Given the description of an element on the screen output the (x, y) to click on. 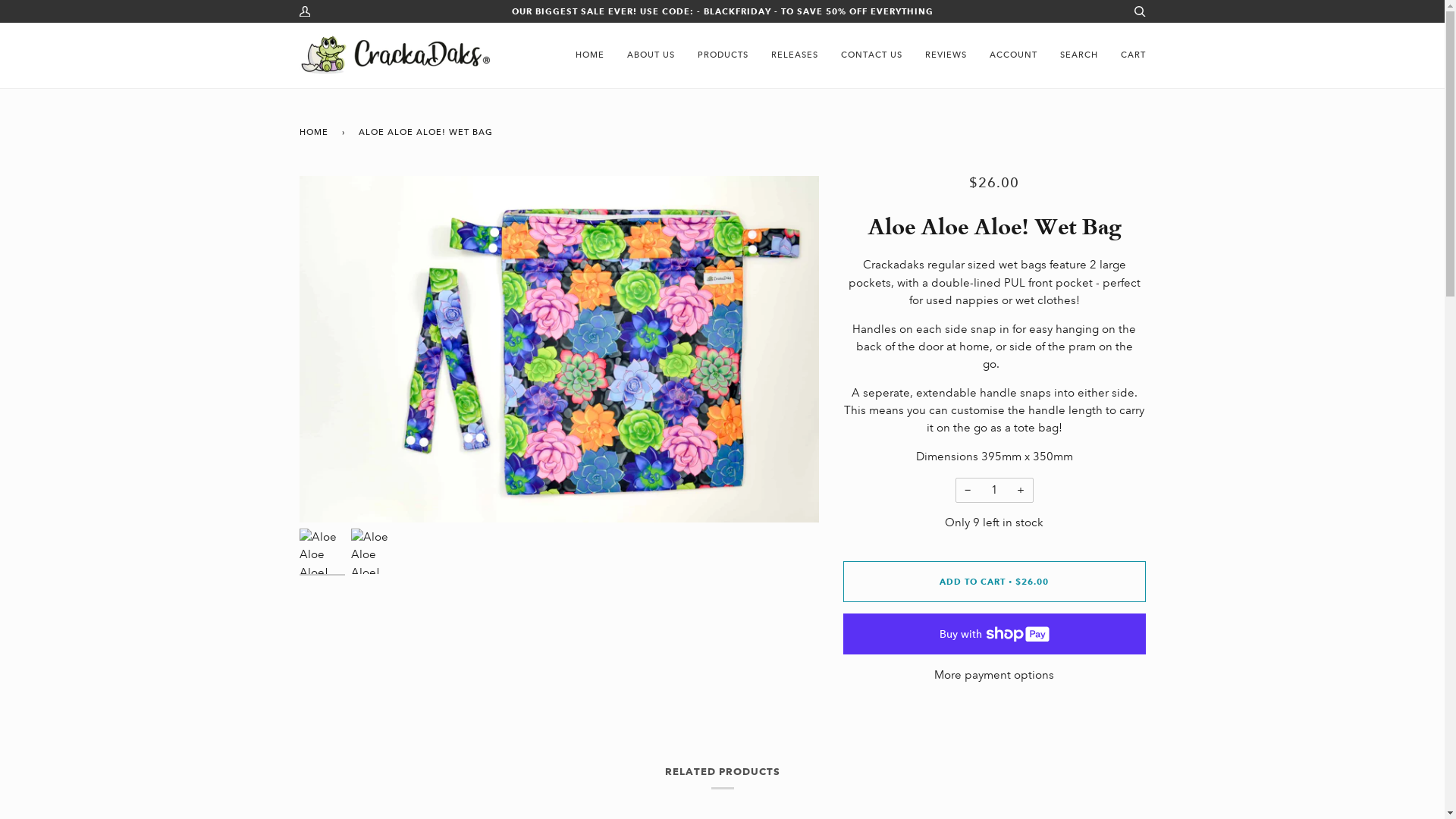
REVIEWS Element type: text (945, 54)
HOME Element type: text (315, 132)
PRODUCTS Element type: text (722, 54)
SEARCH Element type: text (1078, 54)
ABOUT US Element type: text (650, 54)
ACCOUNT Element type: text (1013, 54)
CART Element type: text (1132, 54)
More payment options Element type: text (994, 674)
HOME Element type: text (589, 54)
RELEASES Element type: text (794, 54)
CONTACT US Element type: text (871, 54)
